Given the description of an element on the screen output the (x, y) to click on. 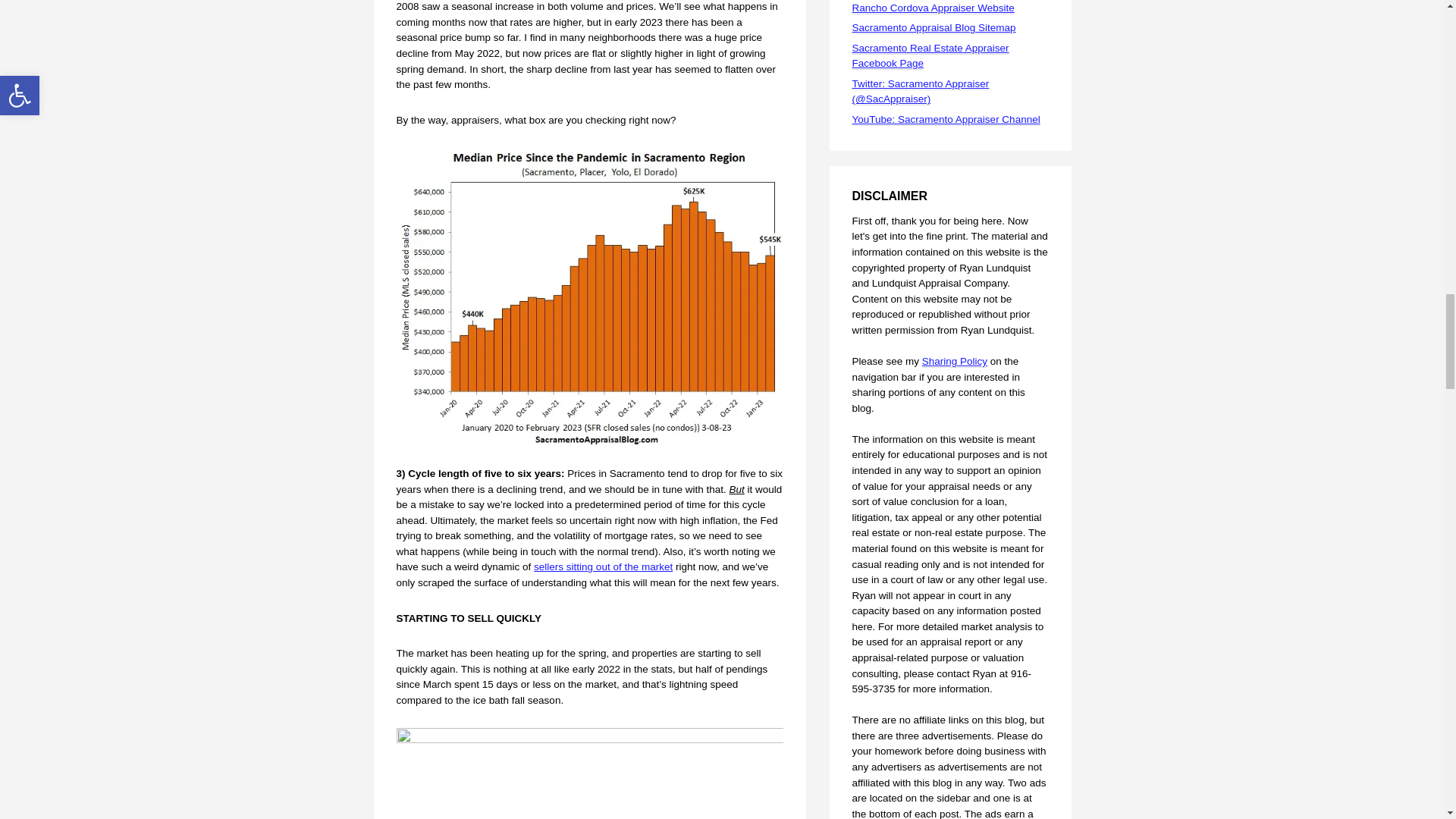
Sacramento Appraisal Blog Sitemap (933, 28)
sellers sitting out of the market (603, 566)
